Given the description of an element on the screen output the (x, y) to click on. 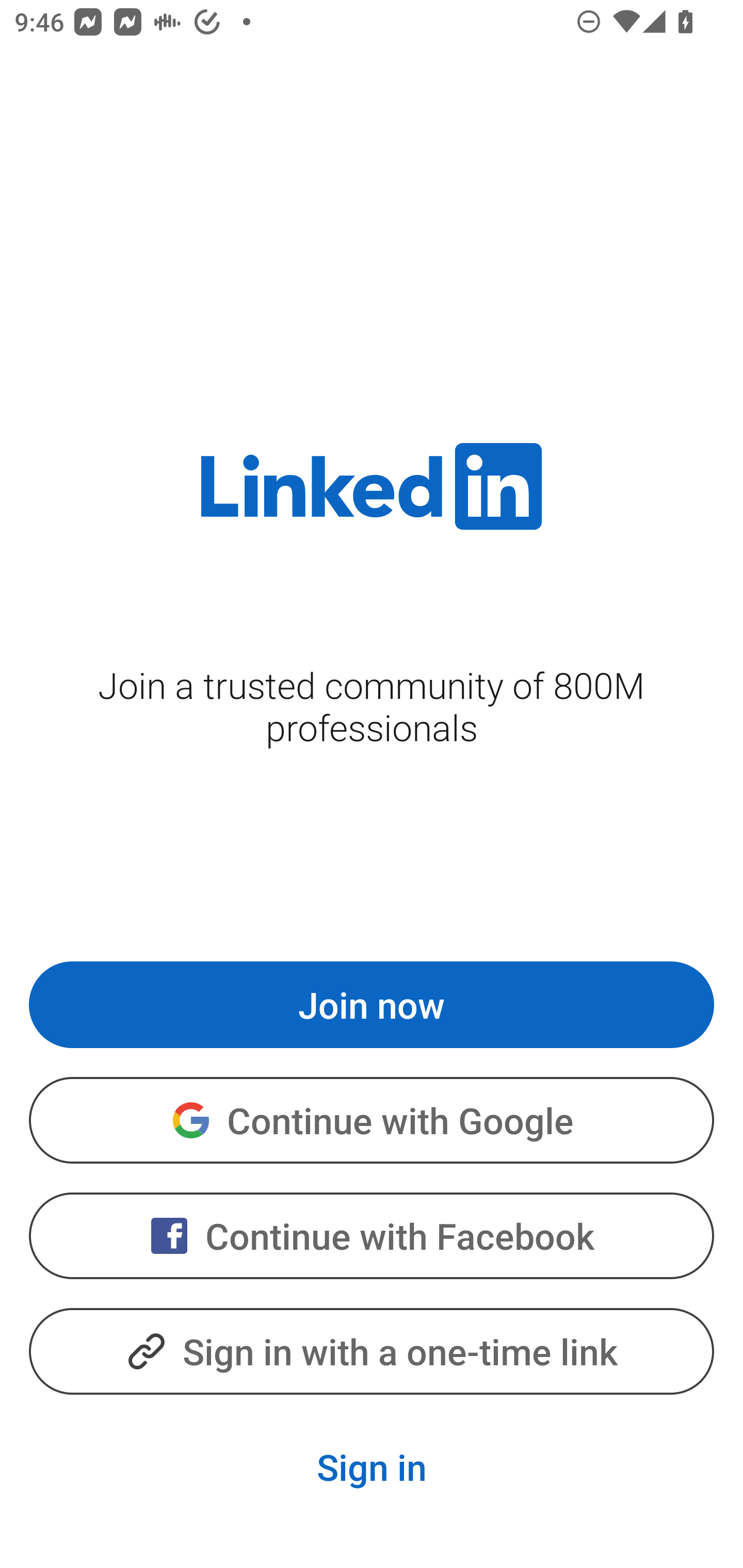
Join now (371, 1004)
Continue with Google (371, 1120)
Continue with Facebook (371, 1236)
Sign in with a one-time link (371, 1350)
Sign in (371, 1466)
